Given the description of an element on the screen output the (x, y) to click on. 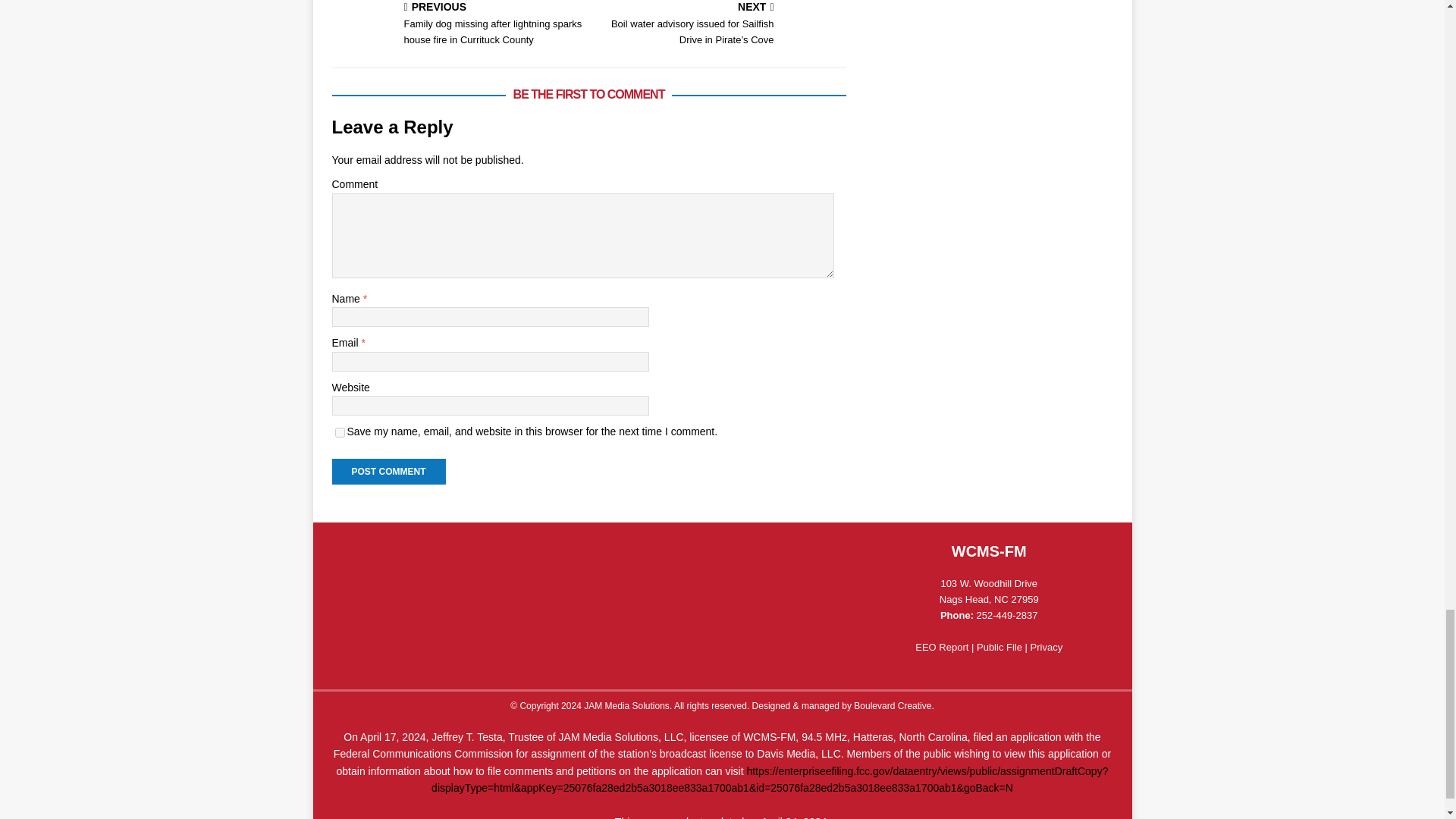
Post Comment (388, 471)
yes (339, 432)
Post Comment (388, 471)
